Given the description of an element on the screen output the (x, y) to click on. 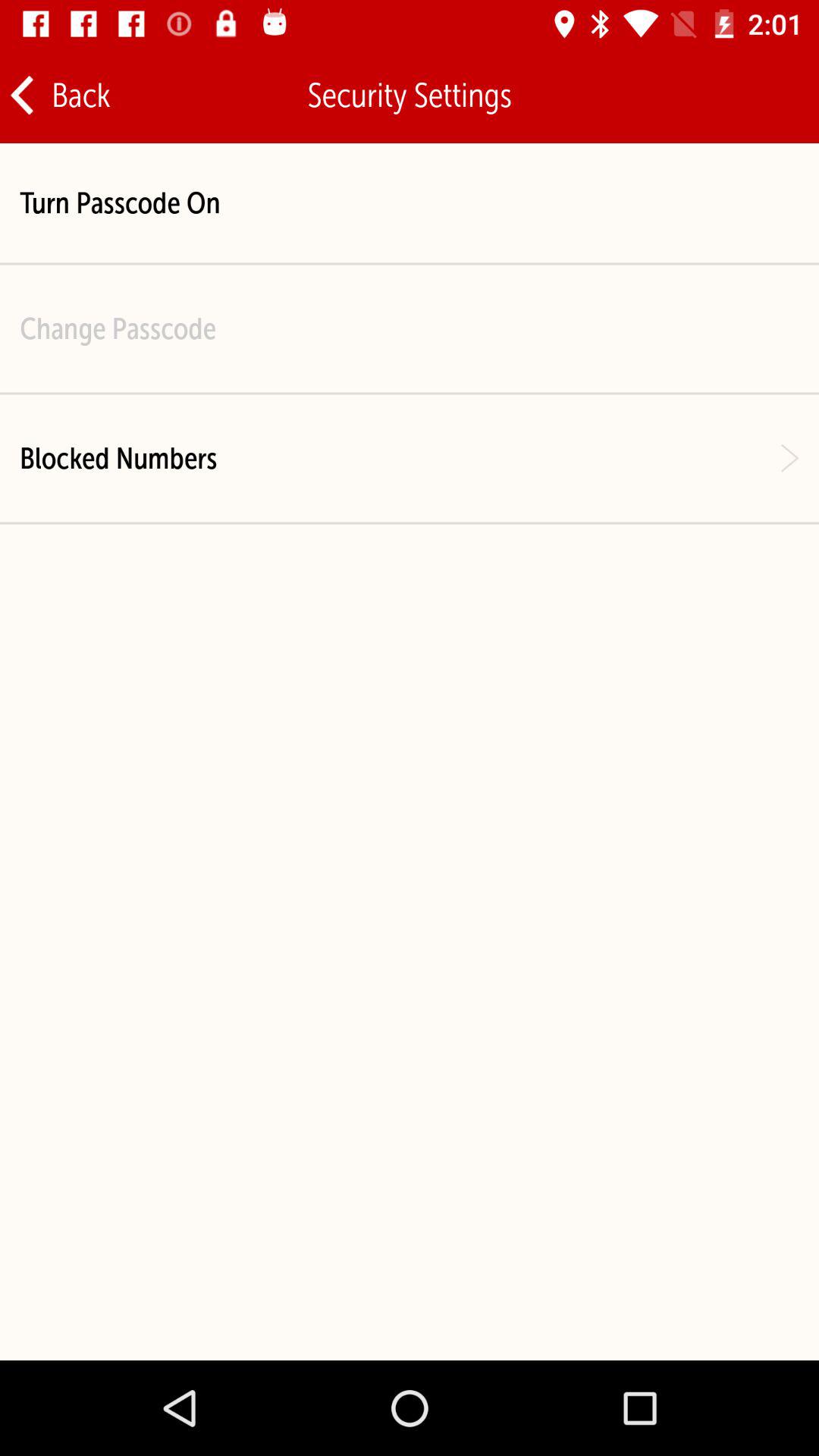
select the item next to security settings icon (59, 95)
